Given the description of an element on the screen output the (x, y) to click on. 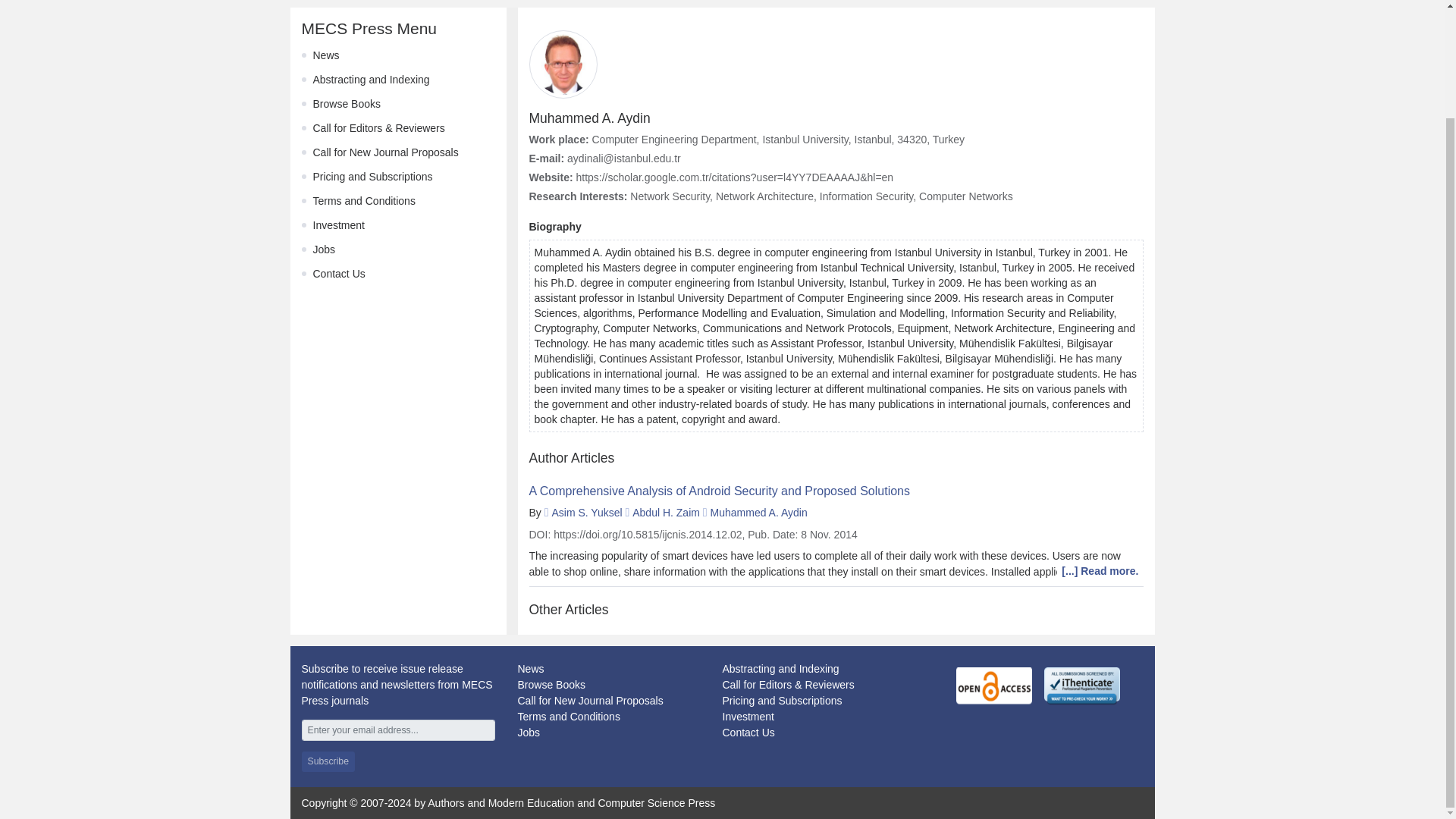
Abstracting and Indexing (371, 79)
Abstracting and Indexing (780, 668)
Browse Books (346, 103)
Terms and Conditions (363, 200)
Call for New Journal Proposals (589, 700)
Contact Us (748, 732)
Jobs (323, 249)
Investment (747, 716)
Contact Us (339, 273)
Subscribe (328, 761)
